Given the description of an element on the screen output the (x, y) to click on. 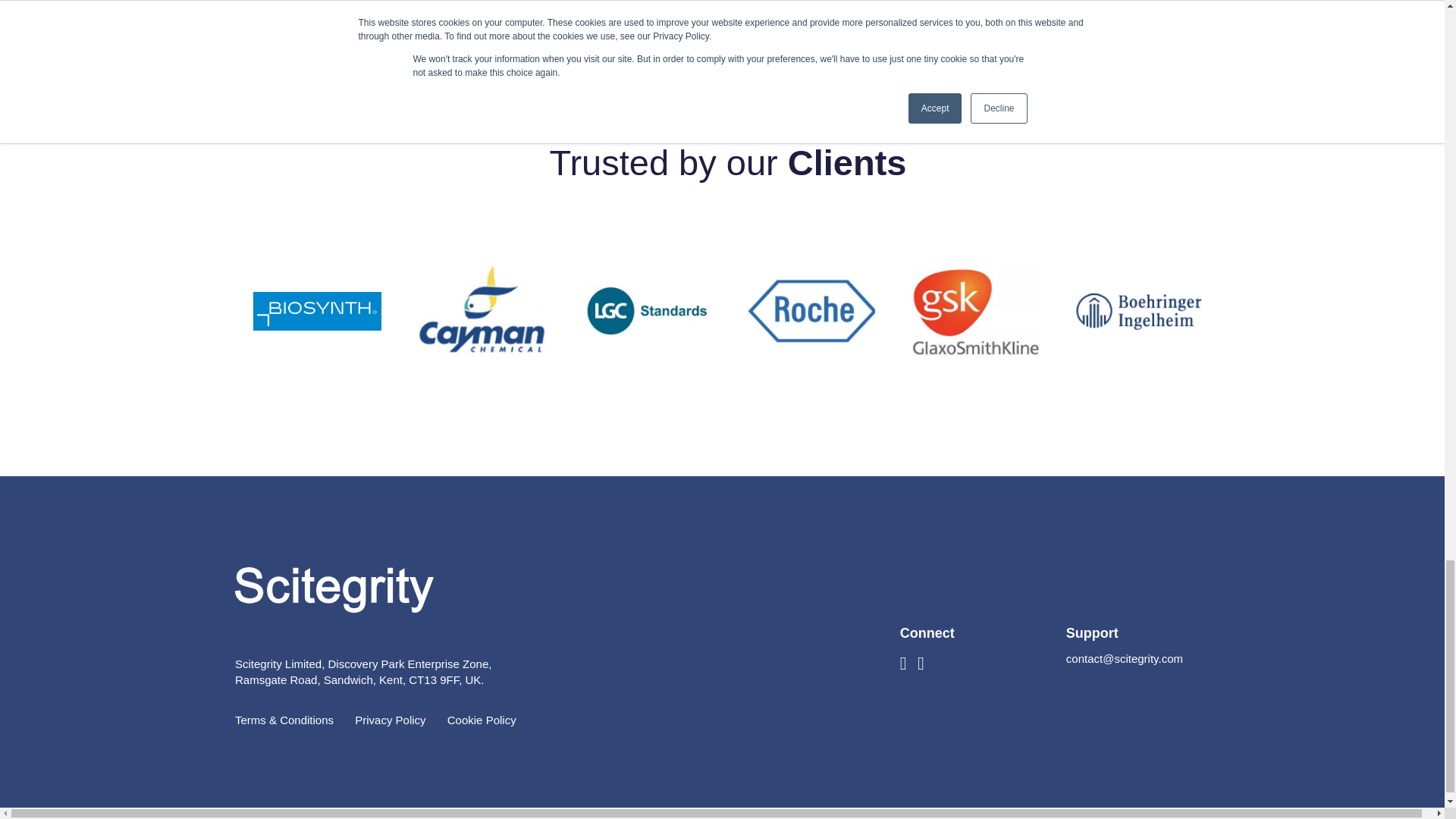
Cookie Policy (481, 719)
Privacy Policy (390, 719)
